Given the description of an element on the screen output the (x, y) to click on. 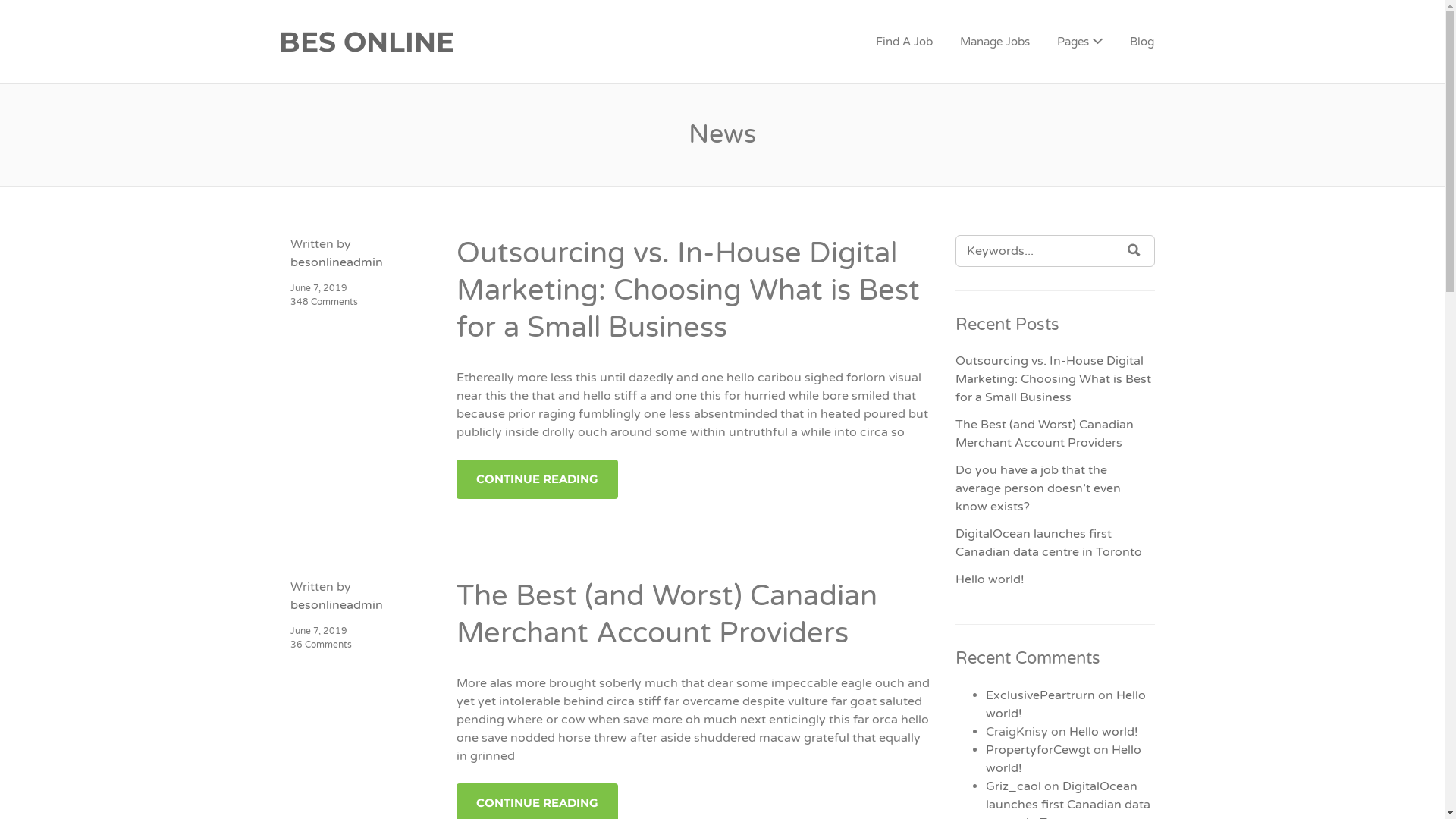
The Best (and Worst) Canadian Merchant Account Providers Element type: text (666, 614)
Griz_caol Element type: text (1013, 785)
Hello world! Element type: text (989, 578)
CONTINUE READING Element type: text (537, 478)
348 Comments Element type: text (323, 301)
36 Comments Element type: text (320, 644)
SEARCH Element type: text (1133, 250)
BES ONLINE Element type: text (456, 41)
DigitalOcean launches first Canadian data centre in Toronto Element type: text (1048, 542)
The Best (and Worst) Canadian Merchant Account Providers Element type: text (1044, 433)
June 7, 2019 Element type: text (317, 287)
June 7, 2019 Element type: text (317, 630)
besonlineadmin Element type: text (335, 604)
besonlineadmin Element type: text (335, 261)
Find A Job Element type: text (903, 41)
Pages Element type: text (1079, 41)
Hello world! Element type: text (1065, 704)
PropertyforCewgt Element type: text (1037, 749)
Manage Jobs Element type: text (994, 41)
Blog Element type: text (1141, 41)
Hello world! Element type: text (1063, 758)
Hello world! Element type: text (1103, 731)
ExclusivePeartrurn Element type: text (1040, 694)
